Given the description of an element on the screen output the (x, y) to click on. 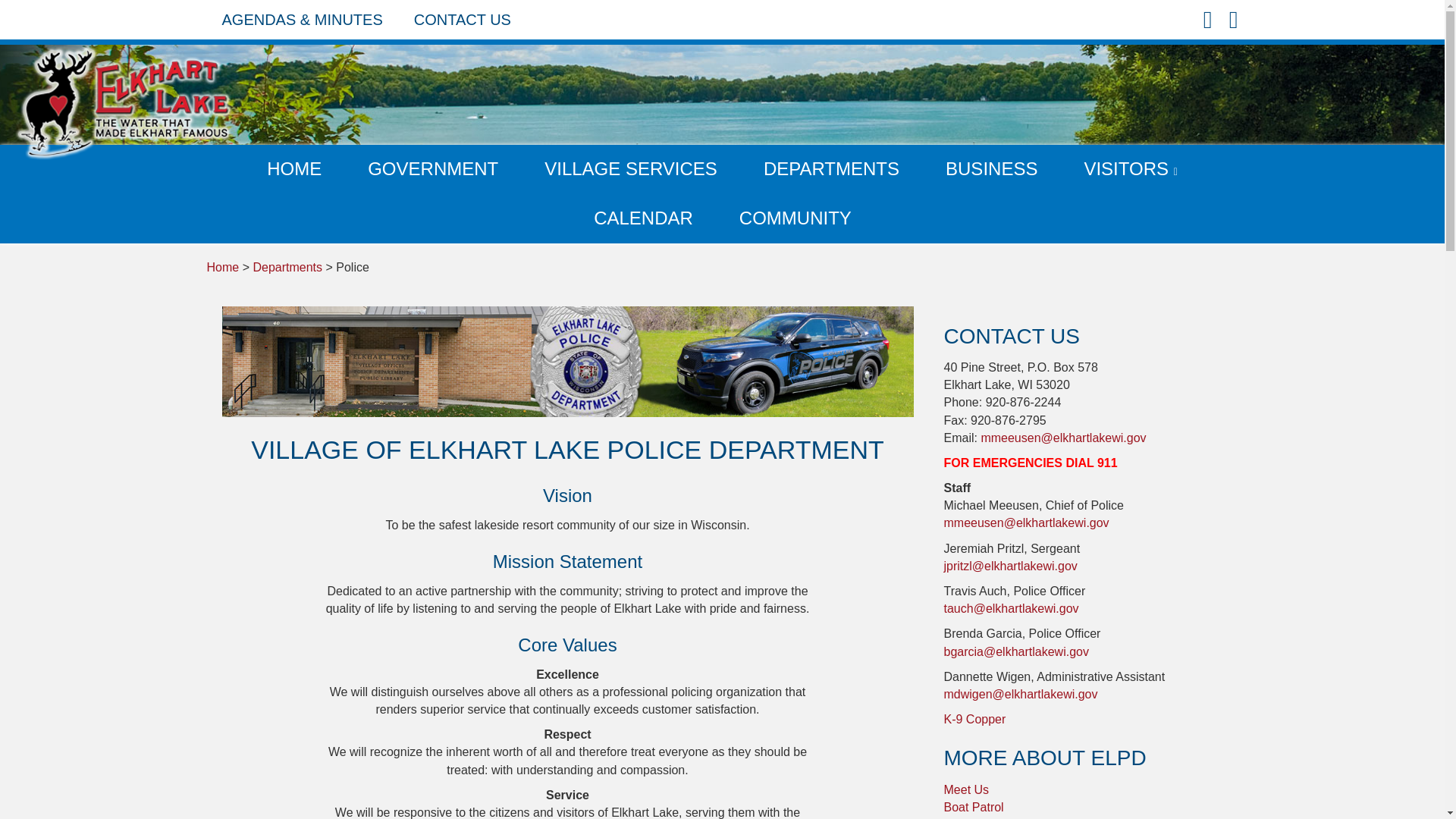
VILLAGE SERVICES (630, 169)
DEPARTMENTS (831, 169)
HOME (293, 169)
elkhart-lake-police-department-wisconsin-h (566, 361)
CONTACT US (461, 19)
GOVERNMENT (433, 169)
elkhart-lake-logo (123, 102)
